Given the description of an element on the screen output the (x, y) to click on. 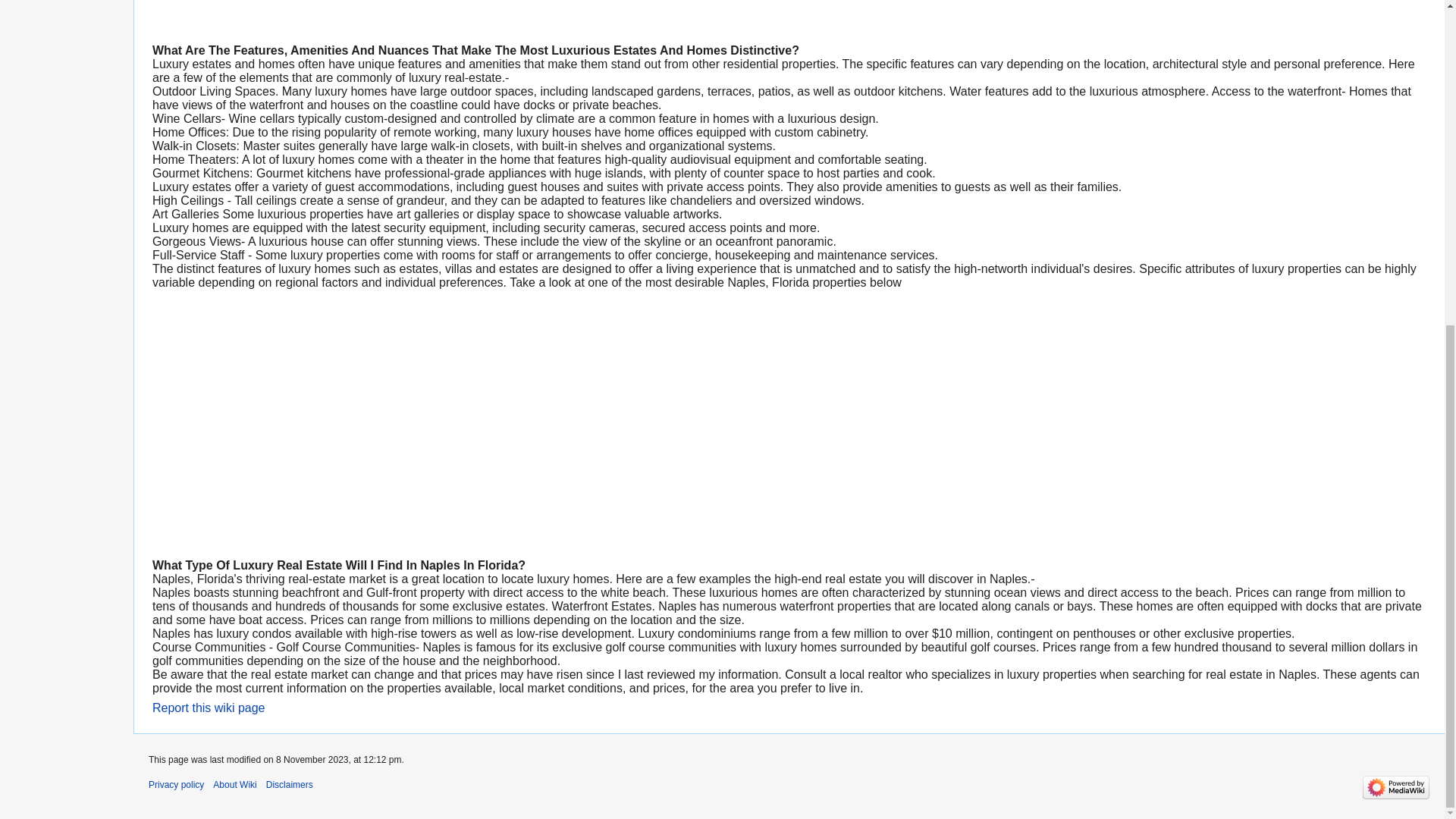
Privacy policy (175, 784)
About Wiki (234, 784)
Report this wiki page (208, 707)
Disclaimers (289, 784)
YouTube video player (364, 13)
YouTube video player (364, 422)
